Given the description of an element on the screen output the (x, y) to click on. 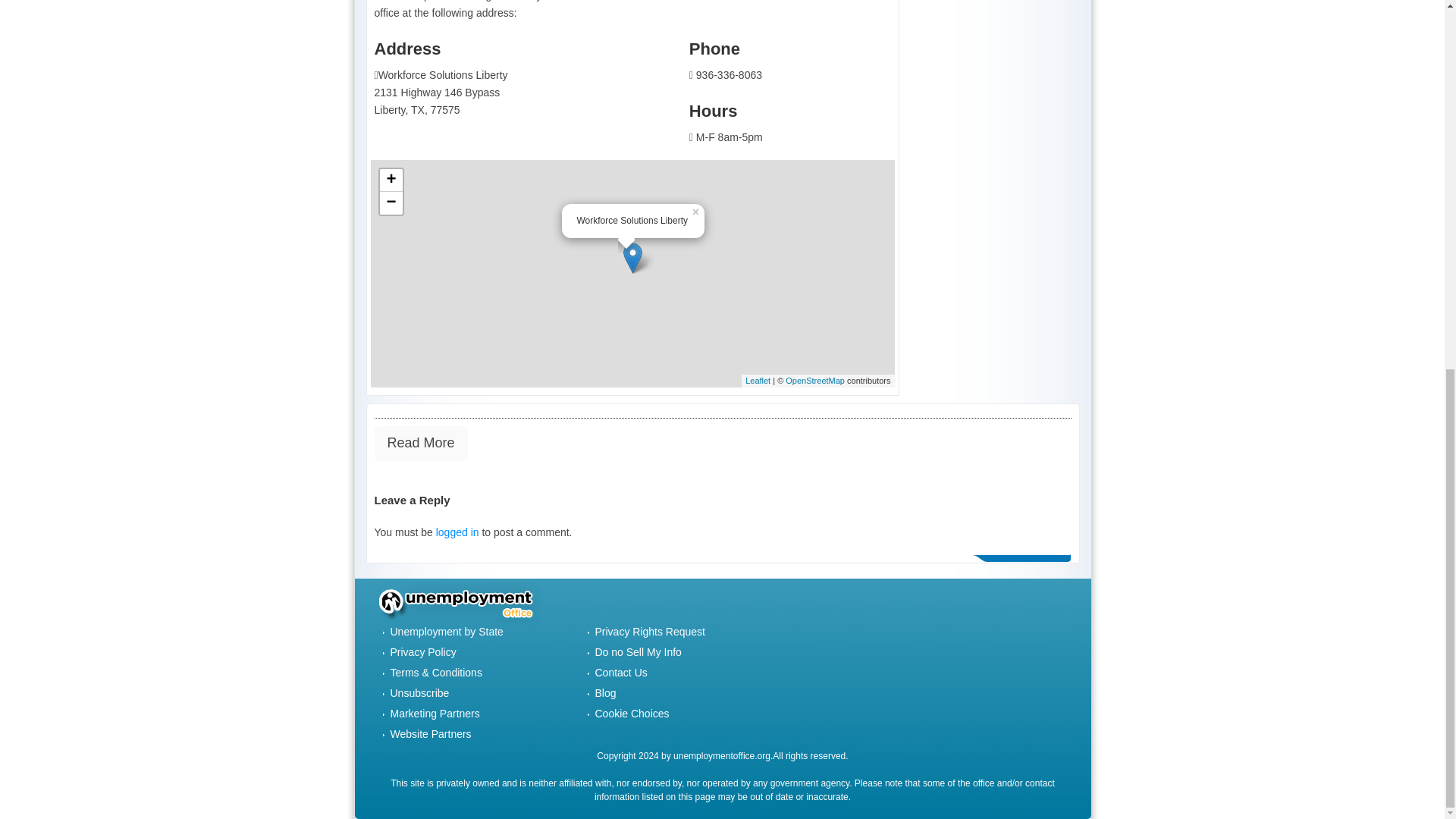
Marketing Partners (434, 713)
OpenStreetMap (815, 379)
Unsubscribe (419, 693)
Read More (420, 443)
A JS library for interactive maps (757, 379)
Zoom in (389, 179)
logged in (457, 532)
Unemployment by State (446, 631)
Zoom out (389, 202)
Leaflet (757, 379)
Privacy Policy (422, 652)
